Given the description of an element on the screen output the (x, y) to click on. 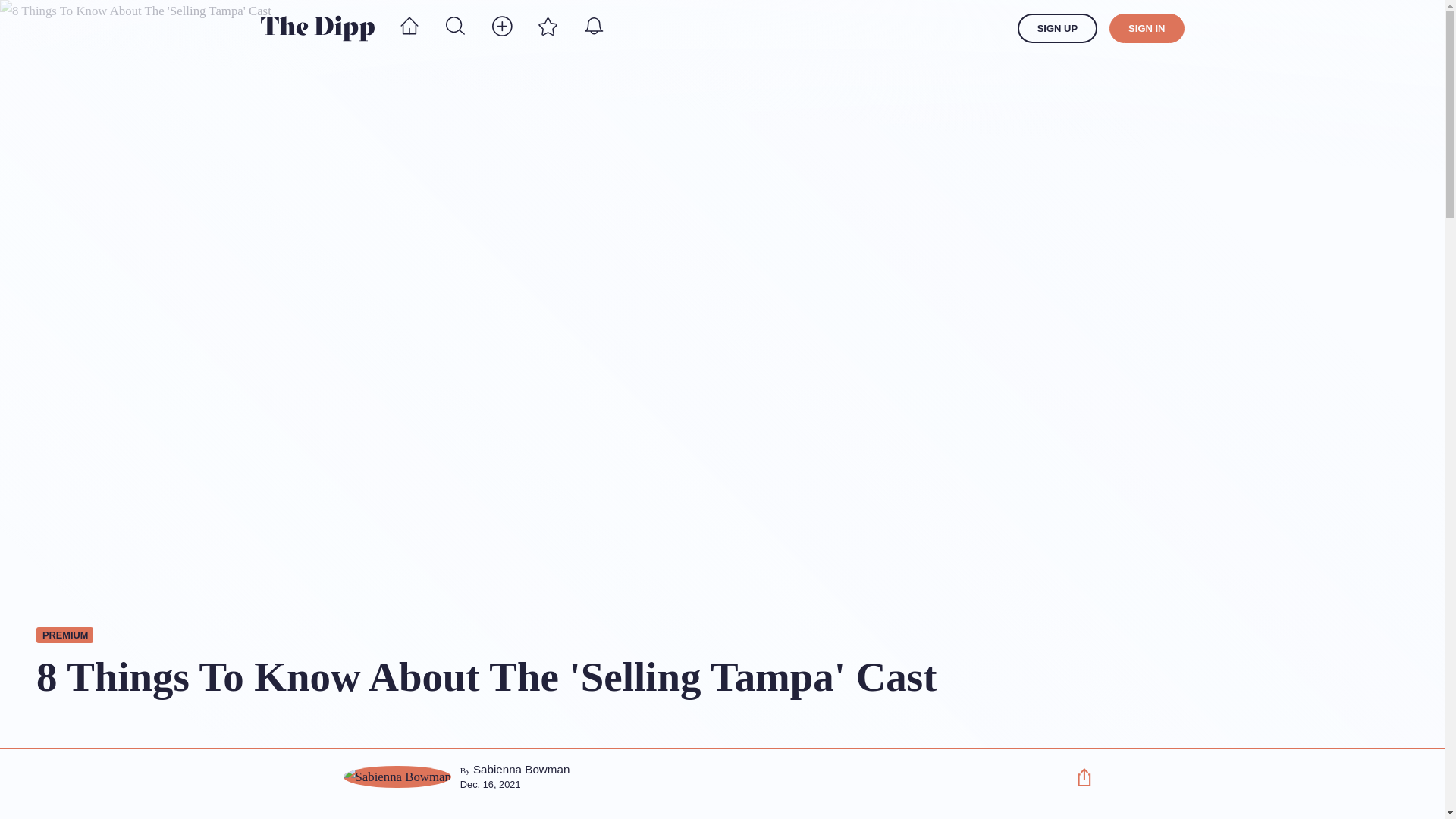
SIGN UP (1057, 28)
SIGN IN (1146, 28)
Sabienna Bowman (521, 768)
Dipp (317, 28)
